Given the description of an element on the screen output the (x, y) to click on. 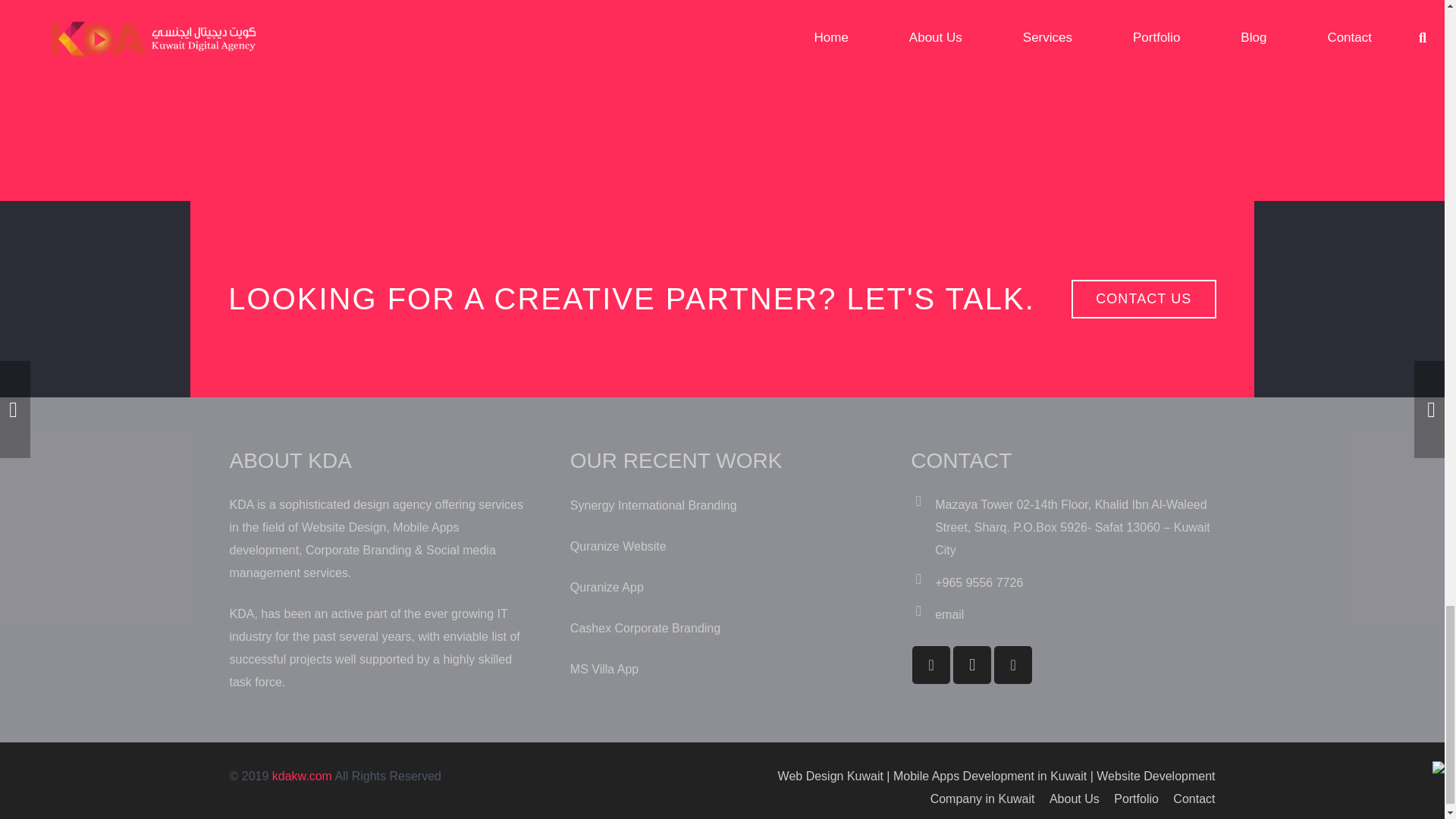
Synergy International Branding (653, 504)
Quranize App (606, 586)
email (948, 614)
Cashex Corporate Branding (645, 627)
Twitter (1013, 664)
Facebook (931, 664)
CONTACT US (1143, 298)
Instagram (972, 664)
Quranize Website (618, 545)
MS Villa App (604, 668)
